Given the description of an element on the screen output the (x, y) to click on. 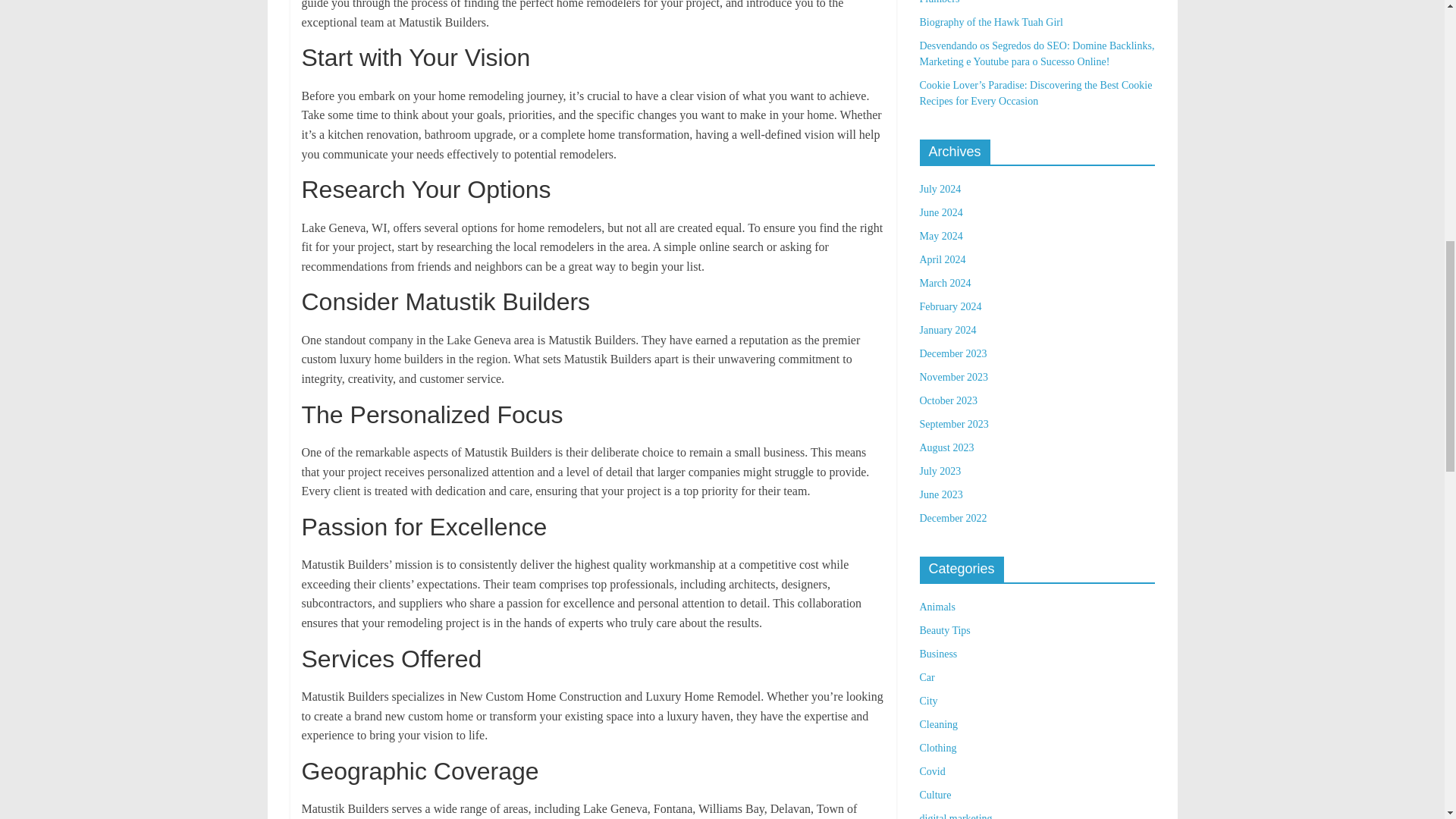
Biography of the Hawk Tuah Girl (990, 21)
Crucial Advice for Finding Reliable Randburg Plumbers (1017, 2)
May 2024 (940, 235)
June 2024 (940, 212)
July 2024 (939, 188)
